Given the description of an element on the screen output the (x, y) to click on. 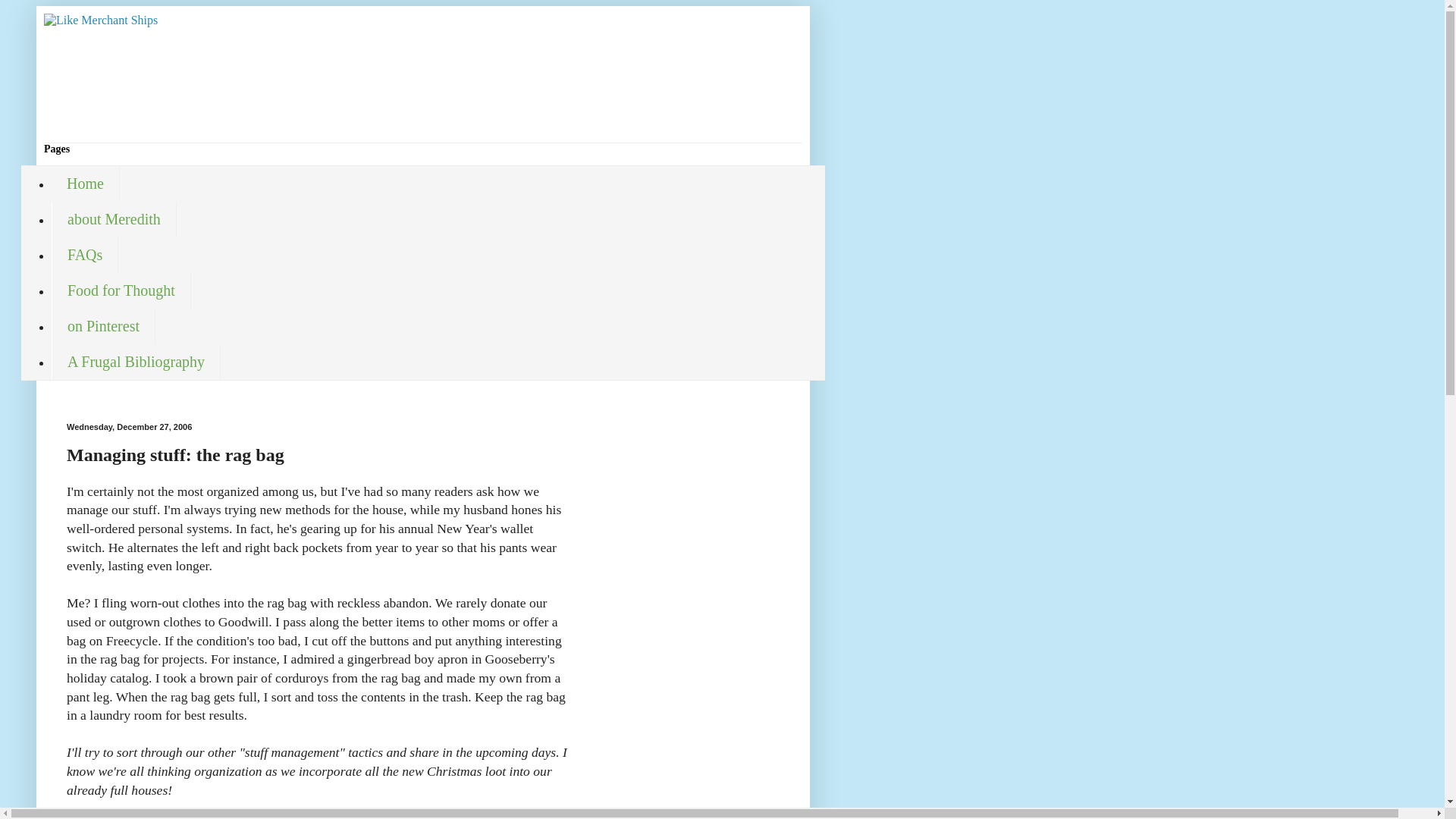
on Pinterest (102, 325)
Home (84, 183)
A Frugal Bibliography (135, 361)
Food for Thought (120, 290)
FAQs (83, 254)
about Meredith (113, 219)
